Given the description of an element on the screen output the (x, y) to click on. 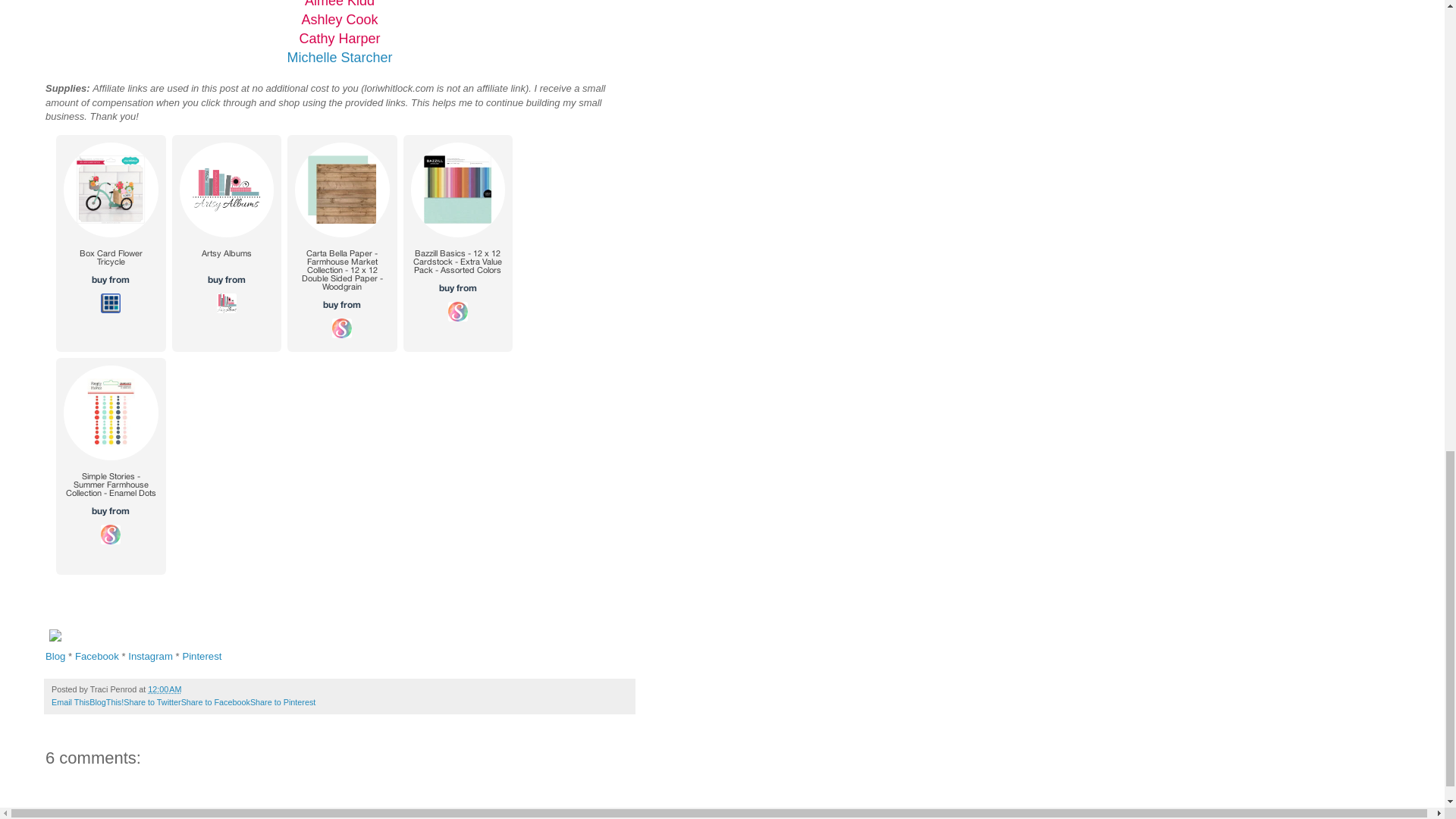
Share to Pinterest (282, 701)
Share to Pinterest (282, 701)
Share to Twitter (151, 701)
Email This (69, 701)
Email This (69, 701)
BlogThis! (105, 701)
Aimee Kidd (339, 3)
Email Post (189, 688)
Share to Facebook (215, 701)
